Given the description of an element on the screen output the (x, y) to click on. 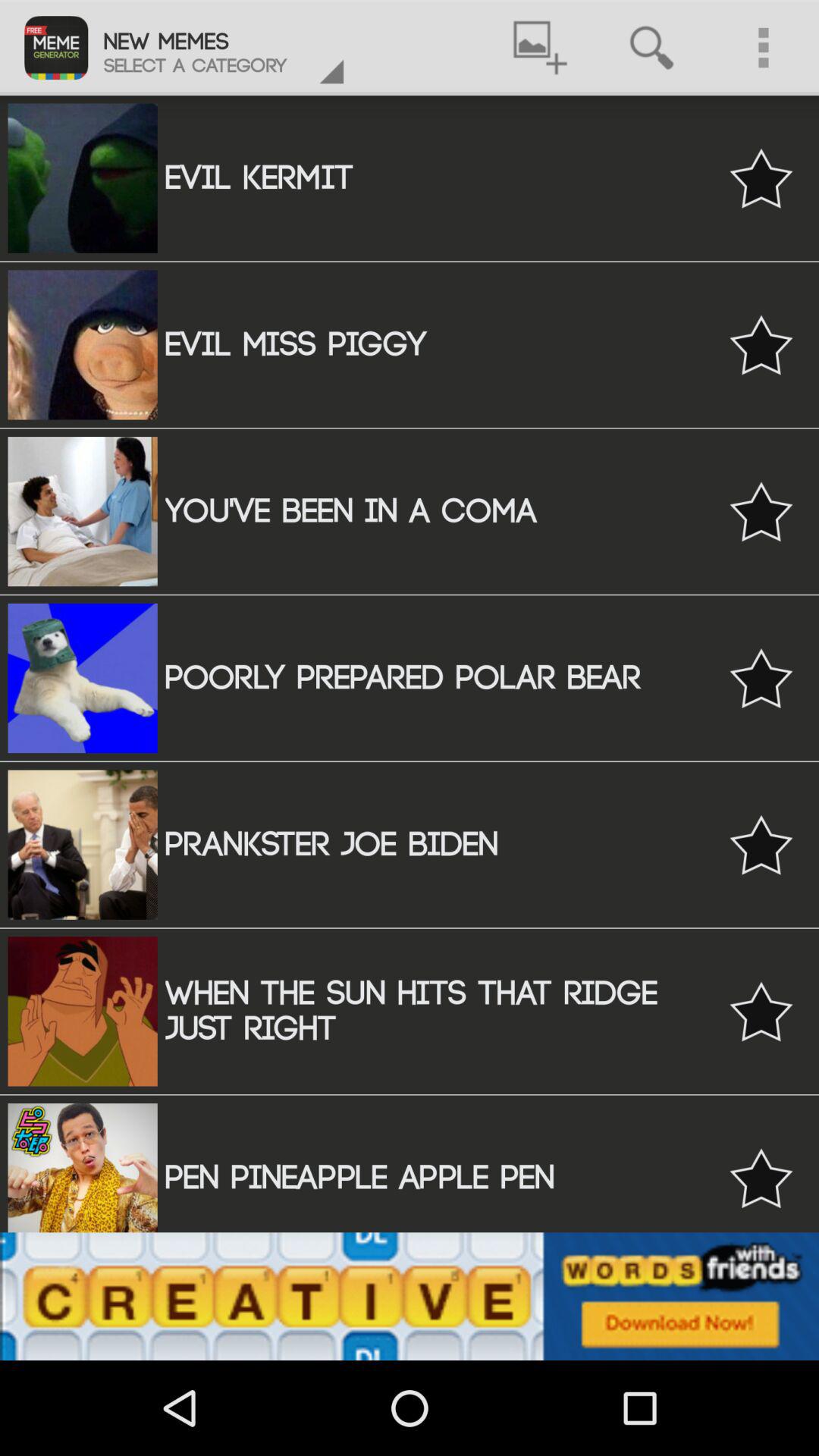
memes list like instal option (761, 511)
